Given the description of an element on the screen output the (x, y) to click on. 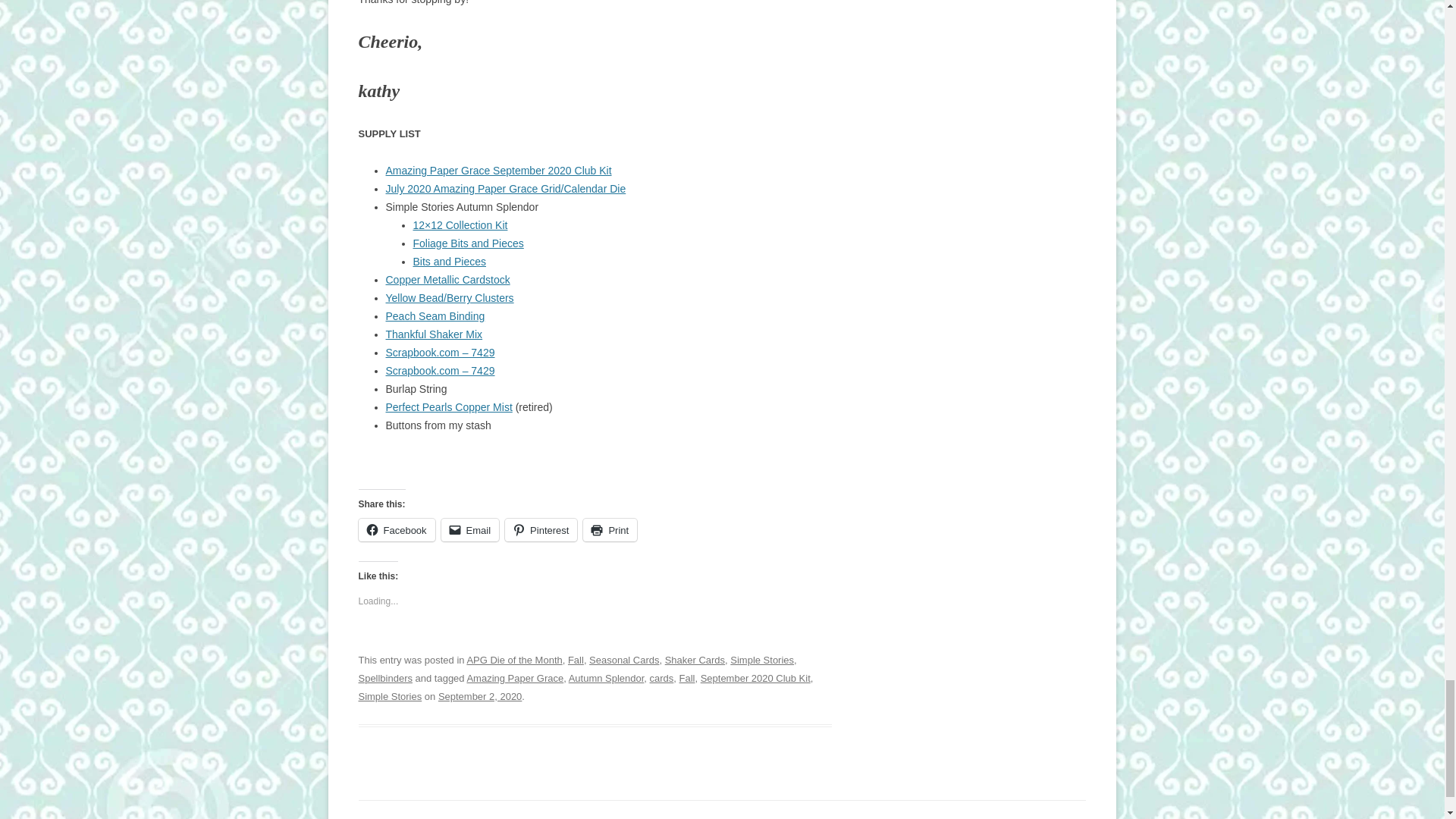
Click to share on Pinterest (540, 529)
Click to share on Facebook (395, 529)
Bits and Pieces (449, 261)
Facebook (395, 529)
Pinterest (540, 529)
Simple Stories (390, 696)
September 2020 Club Kit (755, 677)
Copper Metallic Cardstock (447, 279)
Email (470, 529)
Perfect Pearls Copper Mist (448, 407)
